Given the description of an element on the screen output the (x, y) to click on. 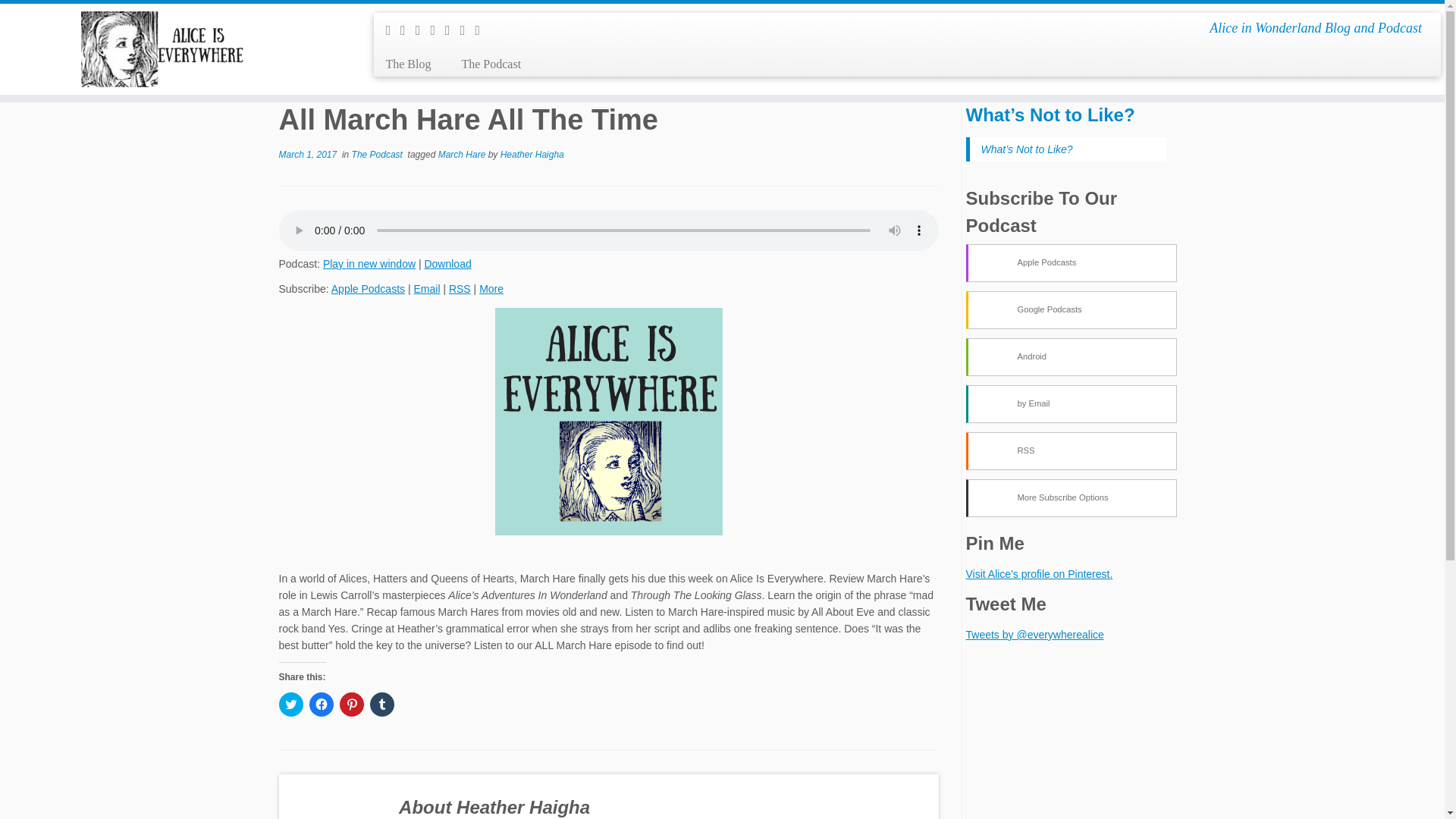
Download (446, 263)
Play in new window (368, 263)
Follow me on Twitter (407, 29)
Visit Alice's profile on Pinterest. (1039, 573)
by Email (1071, 403)
Subscribe by Email (426, 288)
Heather Haigha (532, 154)
Android (1071, 356)
The Podcast (379, 154)
Apple Podcasts (1071, 262)
Subscribe on Apple Podcasts (367, 288)
View all posts by Heather Haigha (532, 154)
The Podcast (483, 64)
Pin me on Pinterest (481, 29)
